Given the description of an element on the screen output the (x, y) to click on. 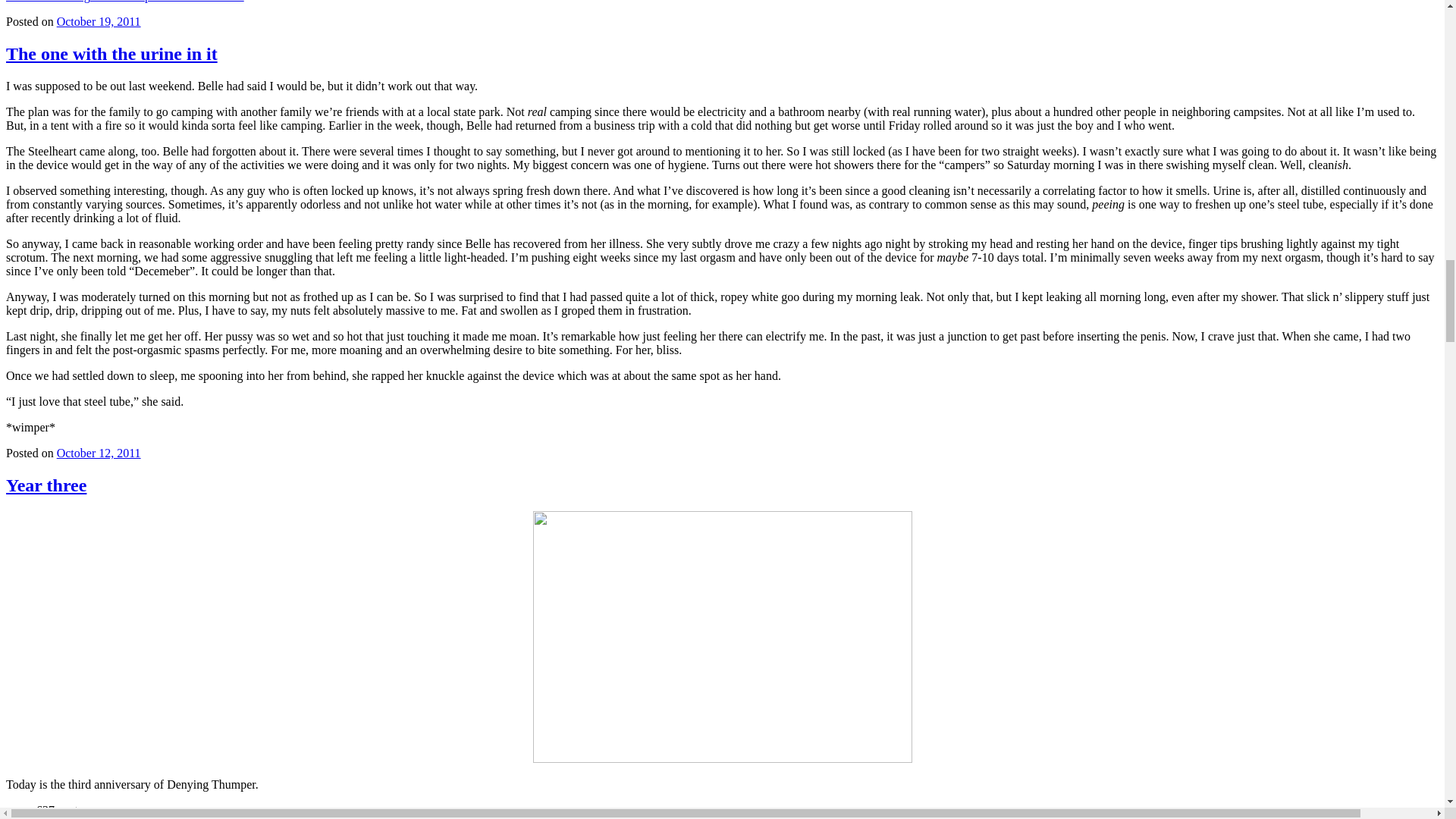
The one with the urine in it (110, 53)
October 19, 2011 (98, 21)
Year three (45, 485)
October 12, 2011 (98, 452)
Yay for us! (721, 636)
